Given the description of an element on the screen output the (x, y) to click on. 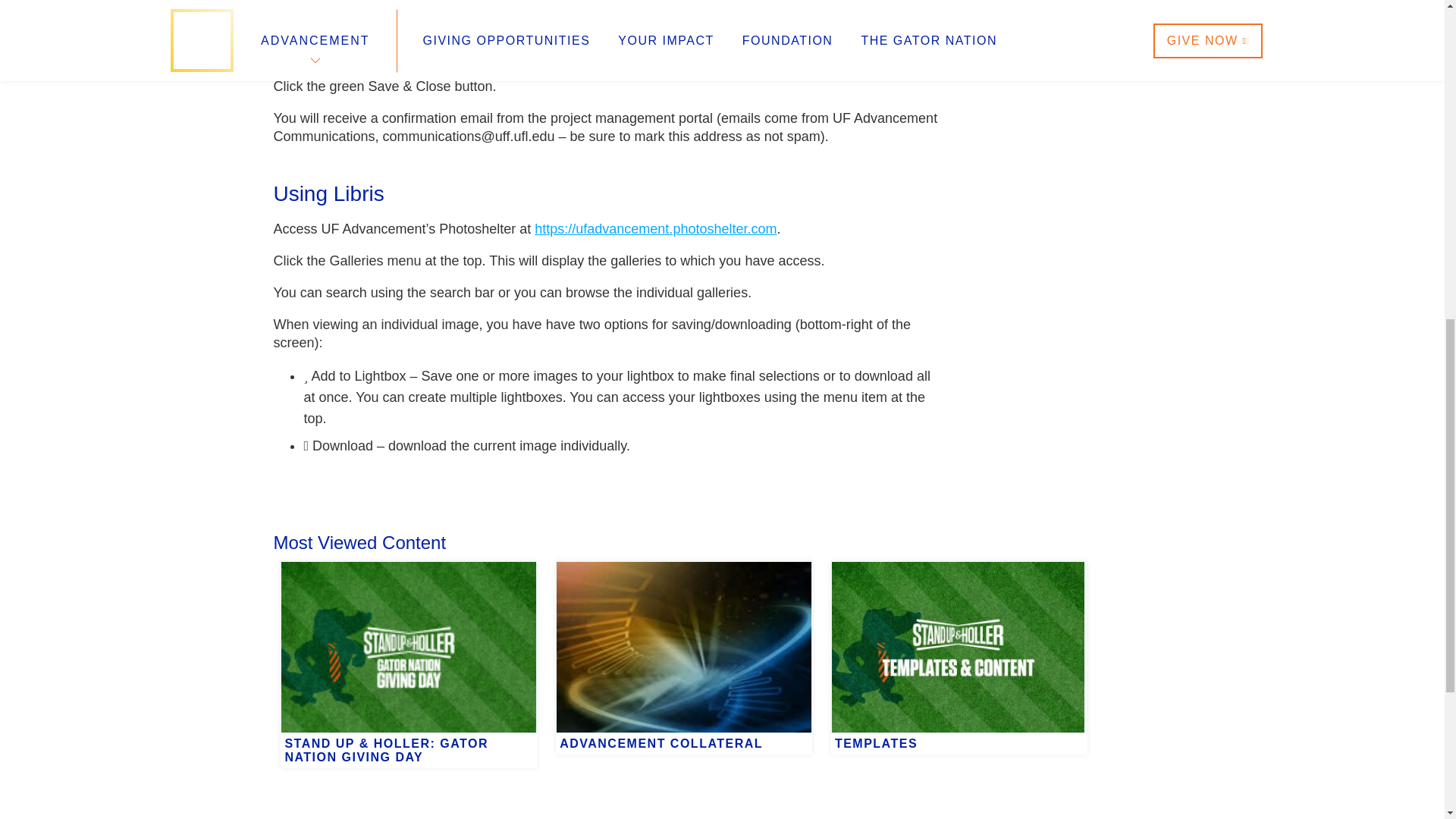
Foundation Board (327, 24)
TEMPLATES (959, 560)
ADVANCEMENT COLLATERAL (683, 560)
Staff Directory (316, 5)
